Given the description of an element on the screen output the (x, y) to click on. 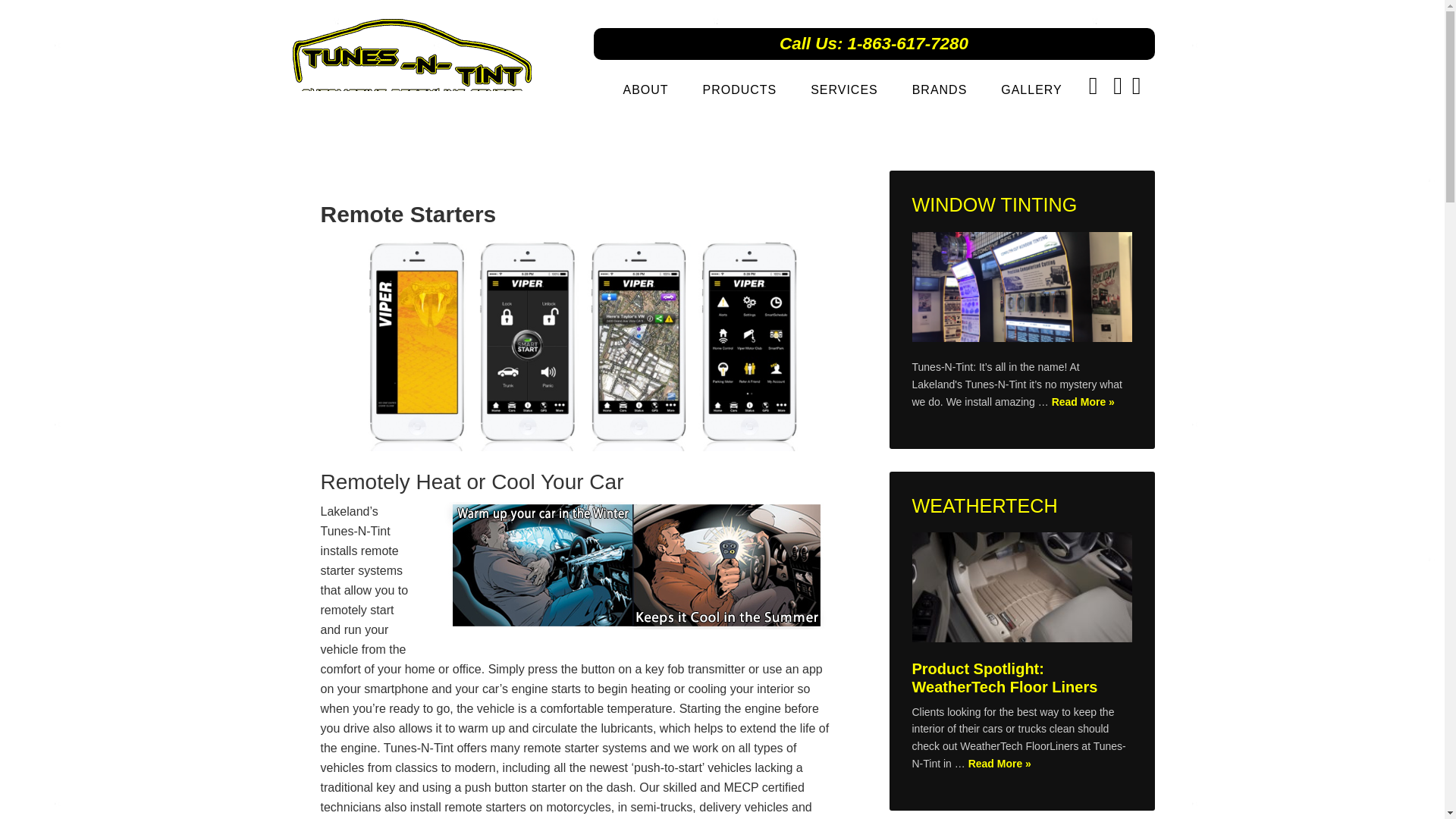
SERVICES (843, 90)
Product Spotlight: WeatherTech Floor Liners (1021, 589)
Cold-Hot - Remote Starters (635, 565)
ABOUT (644, 90)
BRANDS (939, 90)
TUNES-N-TINT (418, 52)
PRODUCTS (739, 90)
Product Spotlight: WeatherTech Floor Liners (1004, 677)
Window Tint (1021, 289)
viper-smart-start - Remote Starters (577, 342)
